Given the description of an element on the screen output the (x, y) to click on. 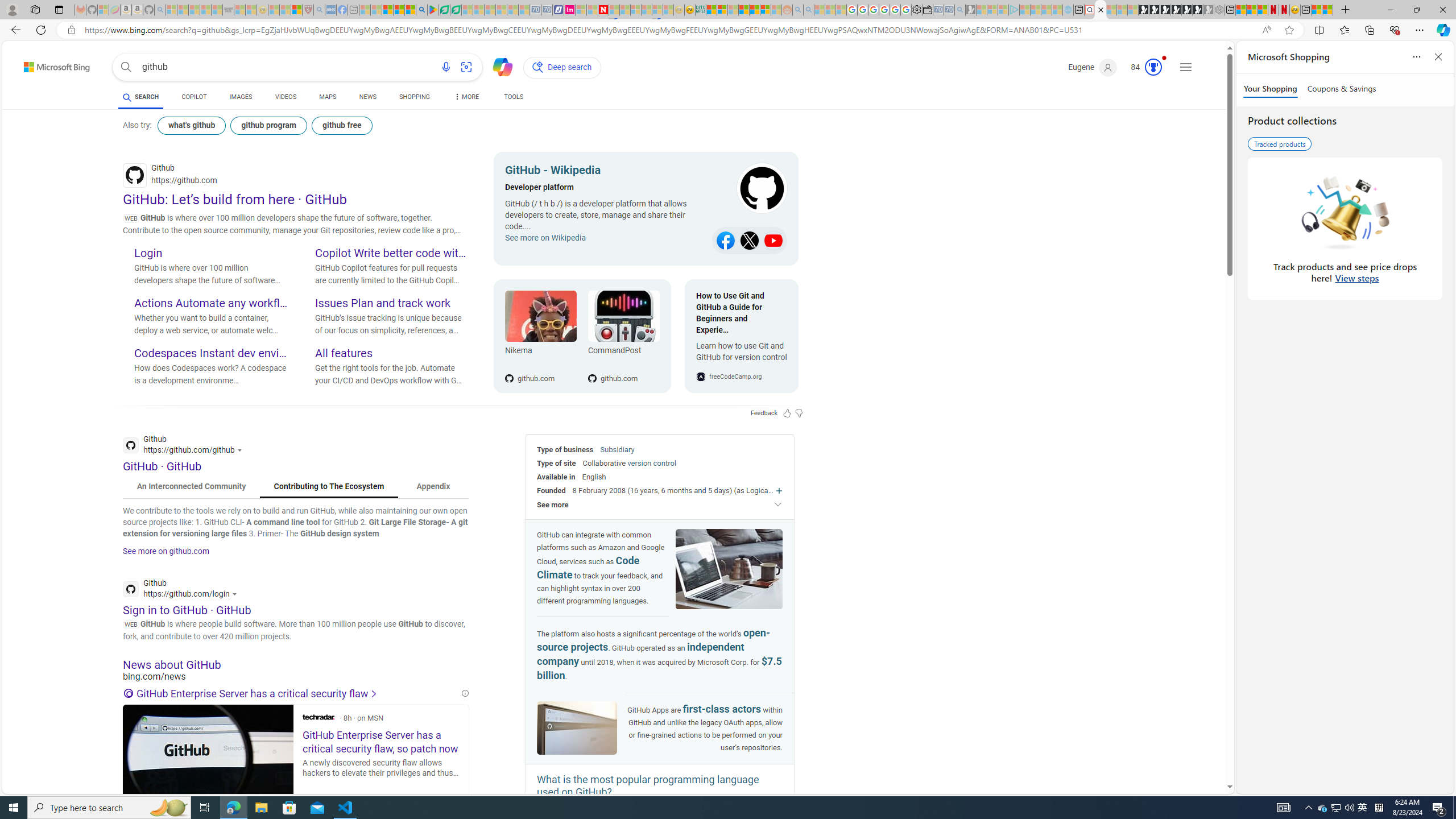
Search using voice (445, 66)
version control (651, 462)
Dropdown Menu (465, 96)
Microsoft Rewards 84 (1142, 67)
Class: b_wdblk (750, 188)
Skip to content (36, 63)
